Given the description of an element on the screen output the (x, y) to click on. 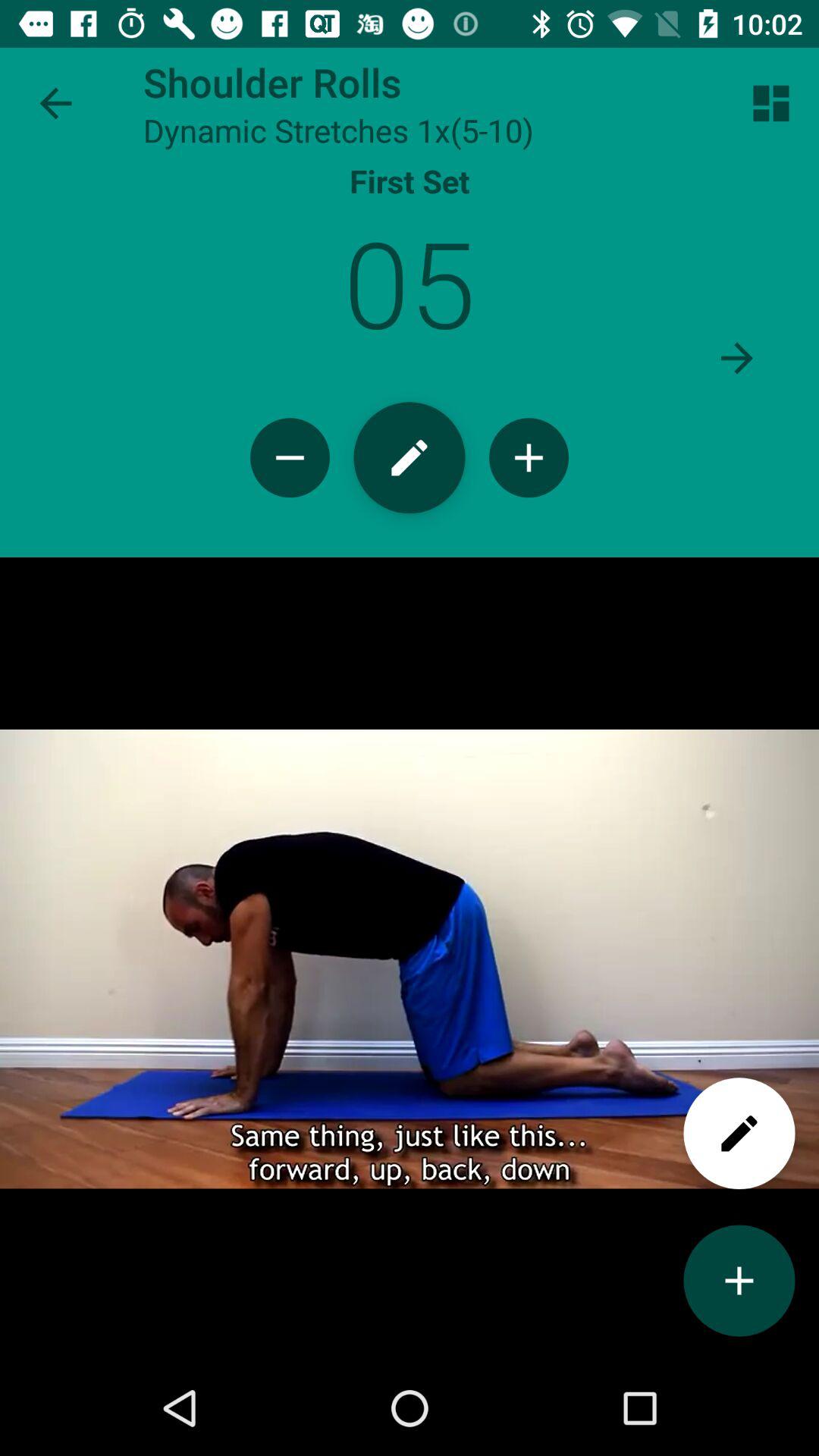
add icon (528, 457)
